Given the description of an element on the screen output the (x, y) to click on. 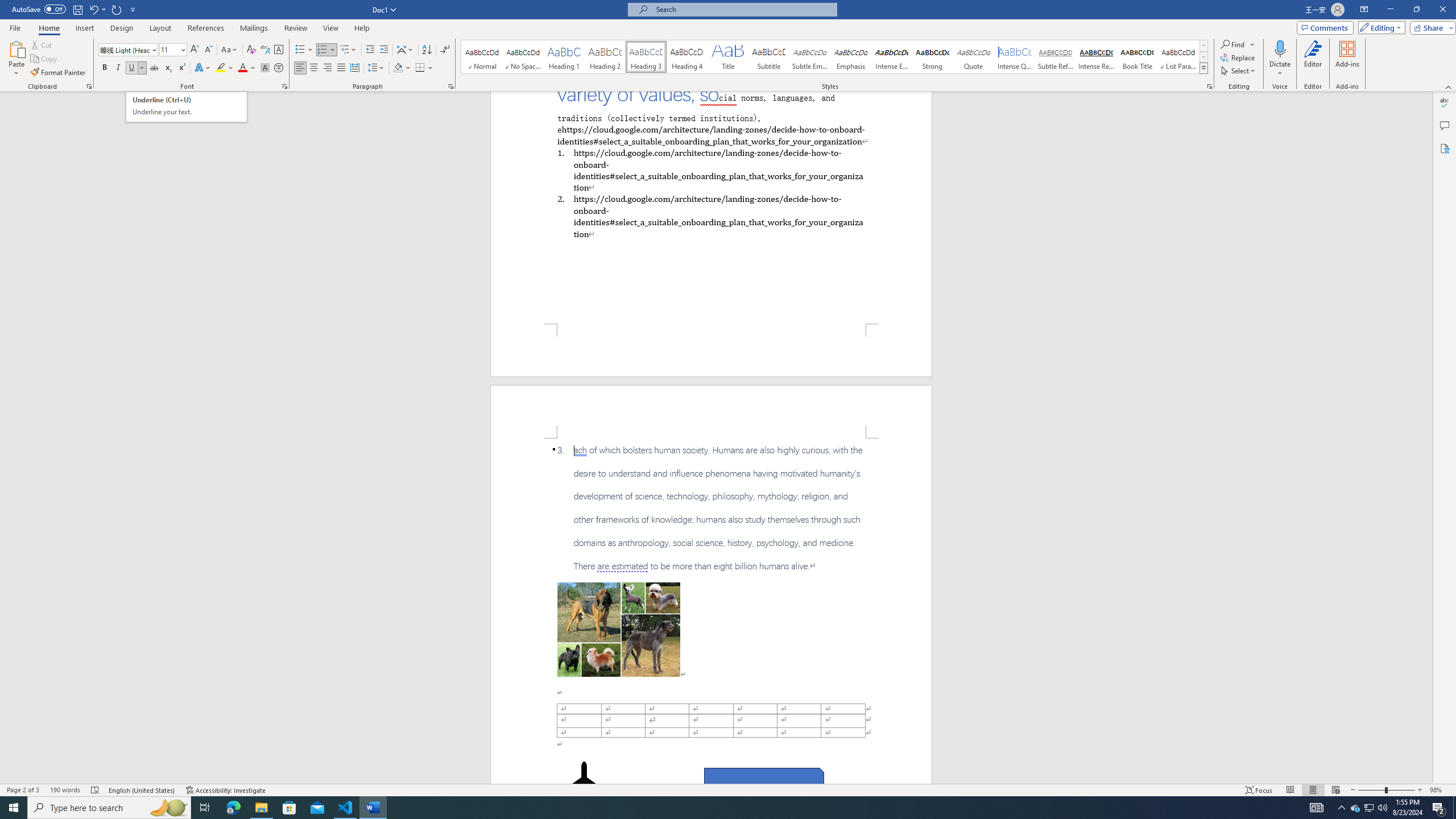
Page 2 content (710, 610)
Font Color Blue-Gray, Text 2 (241, 67)
Page 1 content (710, 207)
